Given the description of an element on the screen output the (x, y) to click on. 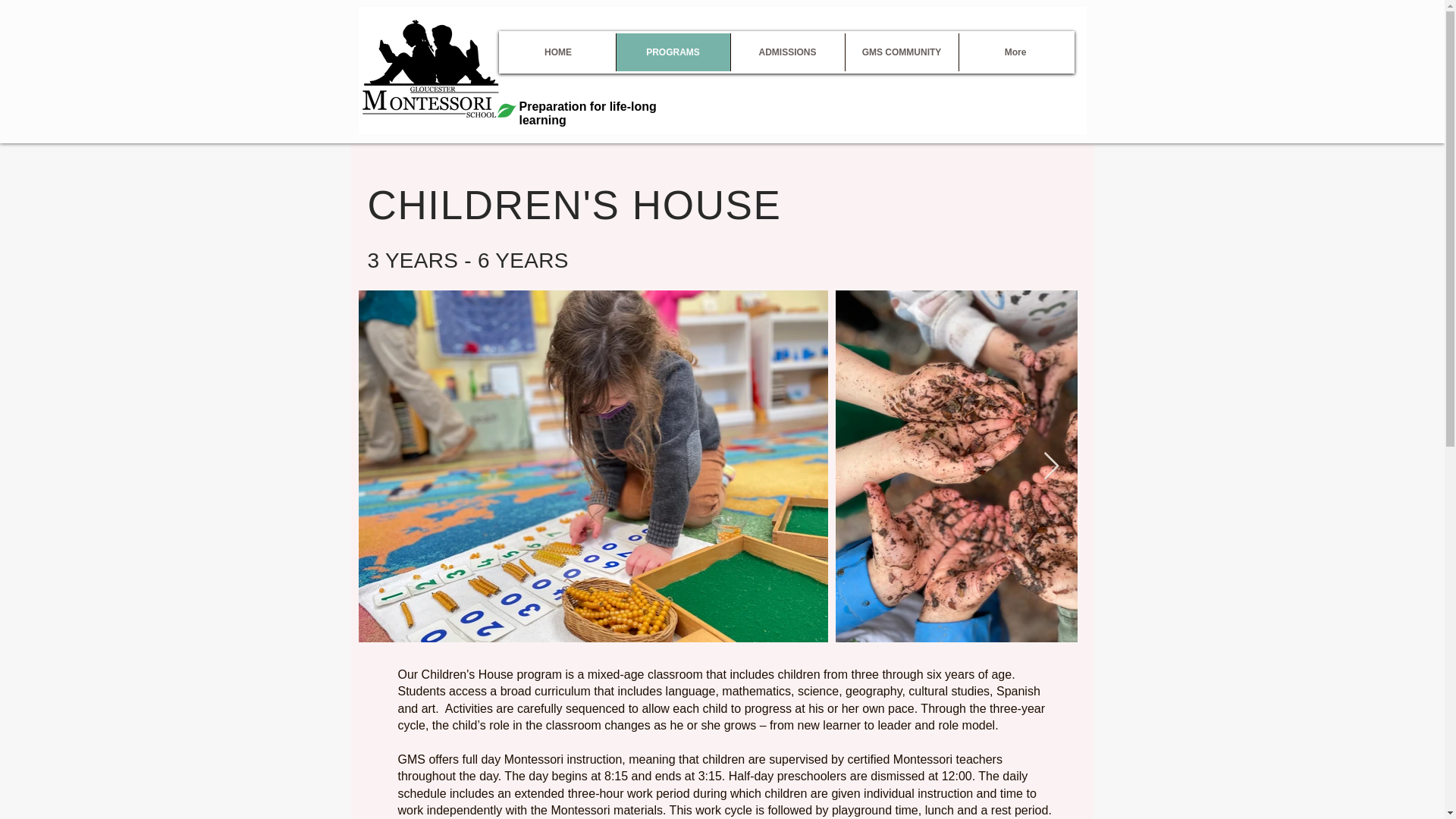
PROGRAMS (672, 52)
HOME (557, 52)
ADMISSIONS (786, 52)
